Given the description of an element on the screen output the (x, y) to click on. 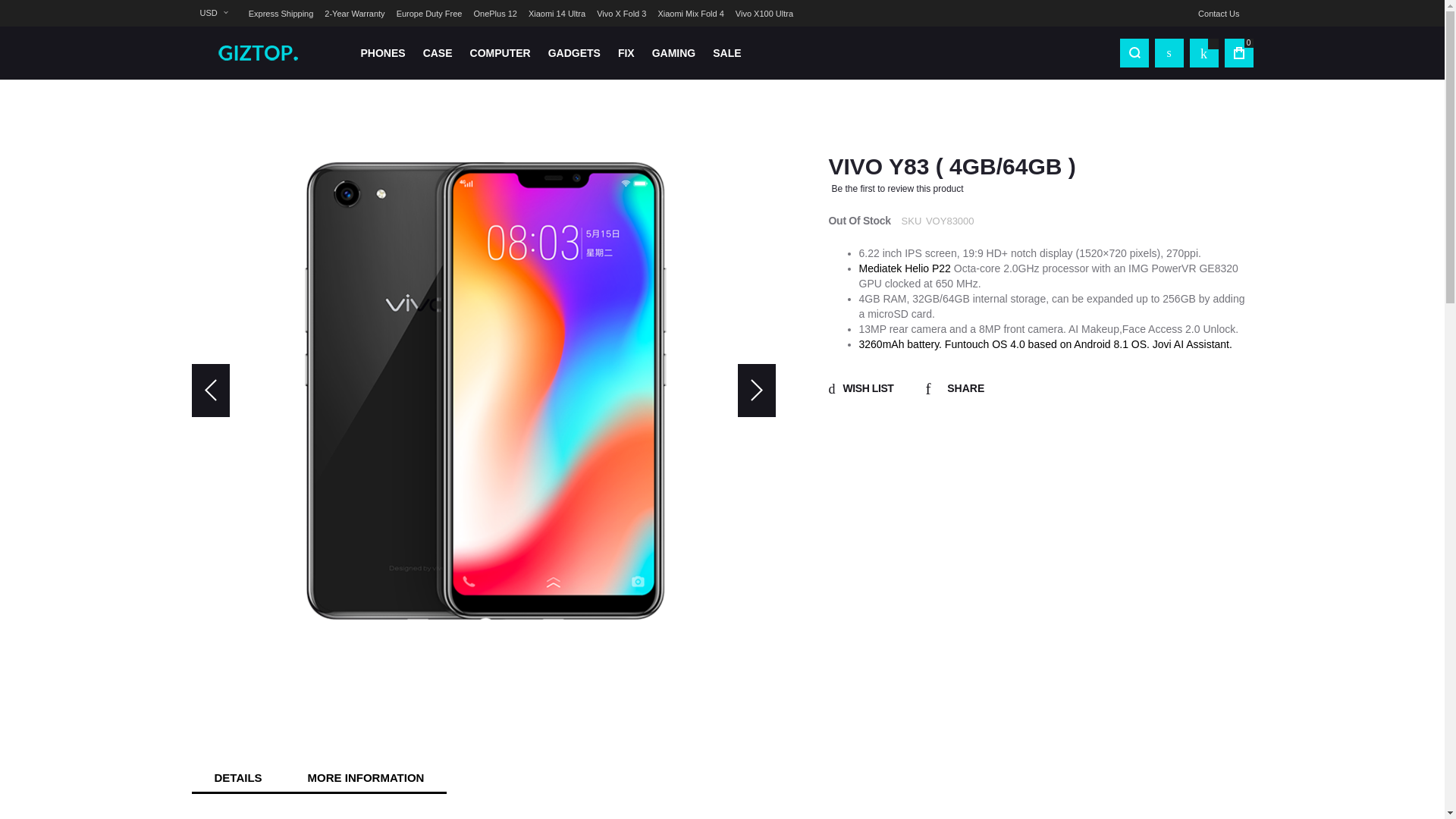
2-Year Warranty (354, 13)
Vivo X100 Ultra (763, 13)
Xiaomi 14 Ultra (556, 13)
PHONES (382, 52)
Contact Us (1218, 13)
Availability (858, 221)
Europe Duty Free (429, 13)
Vivo X Fold 3 (621, 13)
Express Shipping (281, 13)
Xiaomi Mix Fold 4 (690, 13)
OnePlus 12 (494, 13)
